Given the description of an element on the screen output the (x, y) to click on. 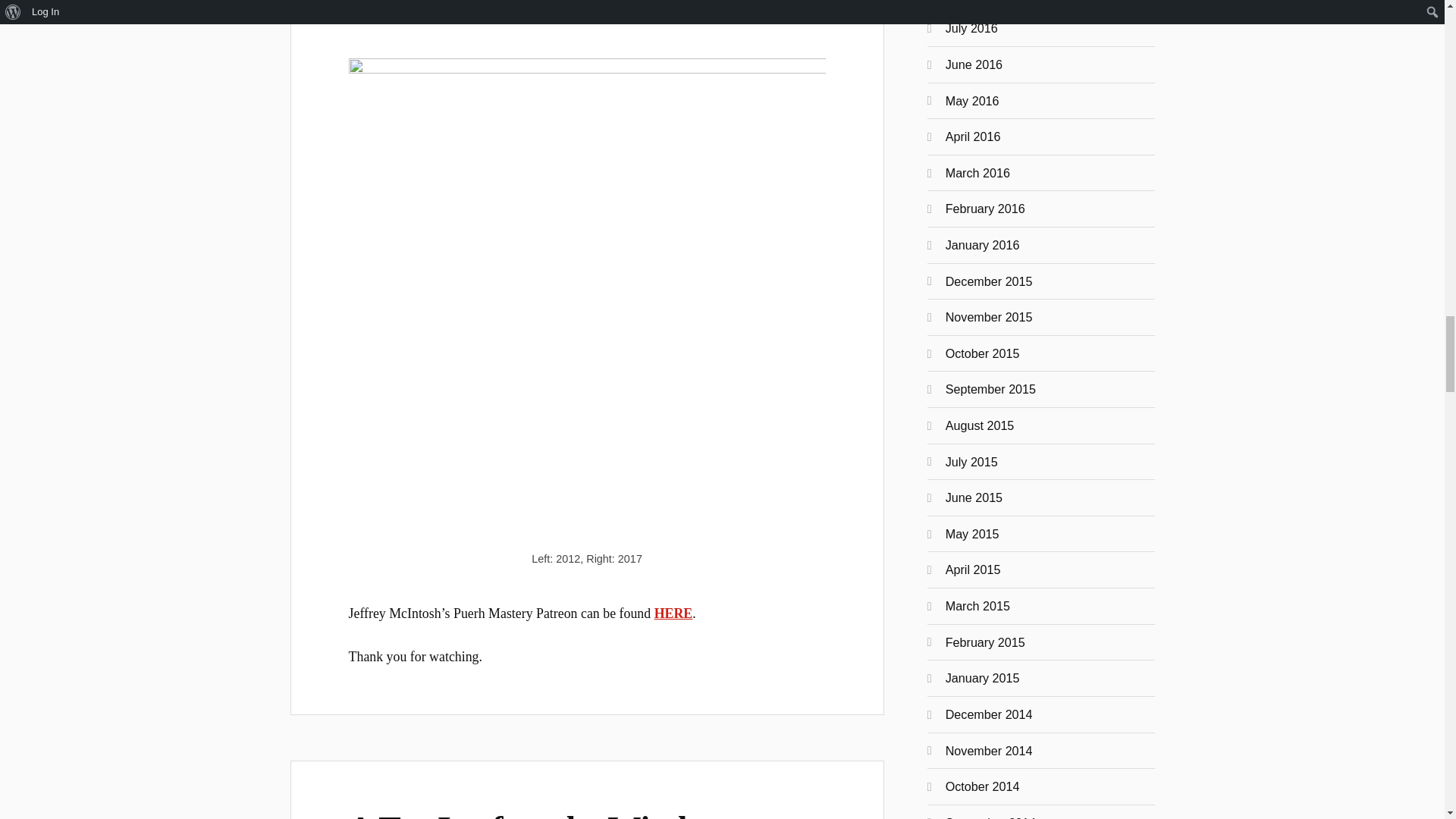
A Tea Leaf on the Wind (518, 814)
HERE (673, 613)
Lazy Gongfool Tastings: Nan Nuo Shan Sheng Puerh (587, 8)
